Given the description of an element on the screen output the (x, y) to click on. 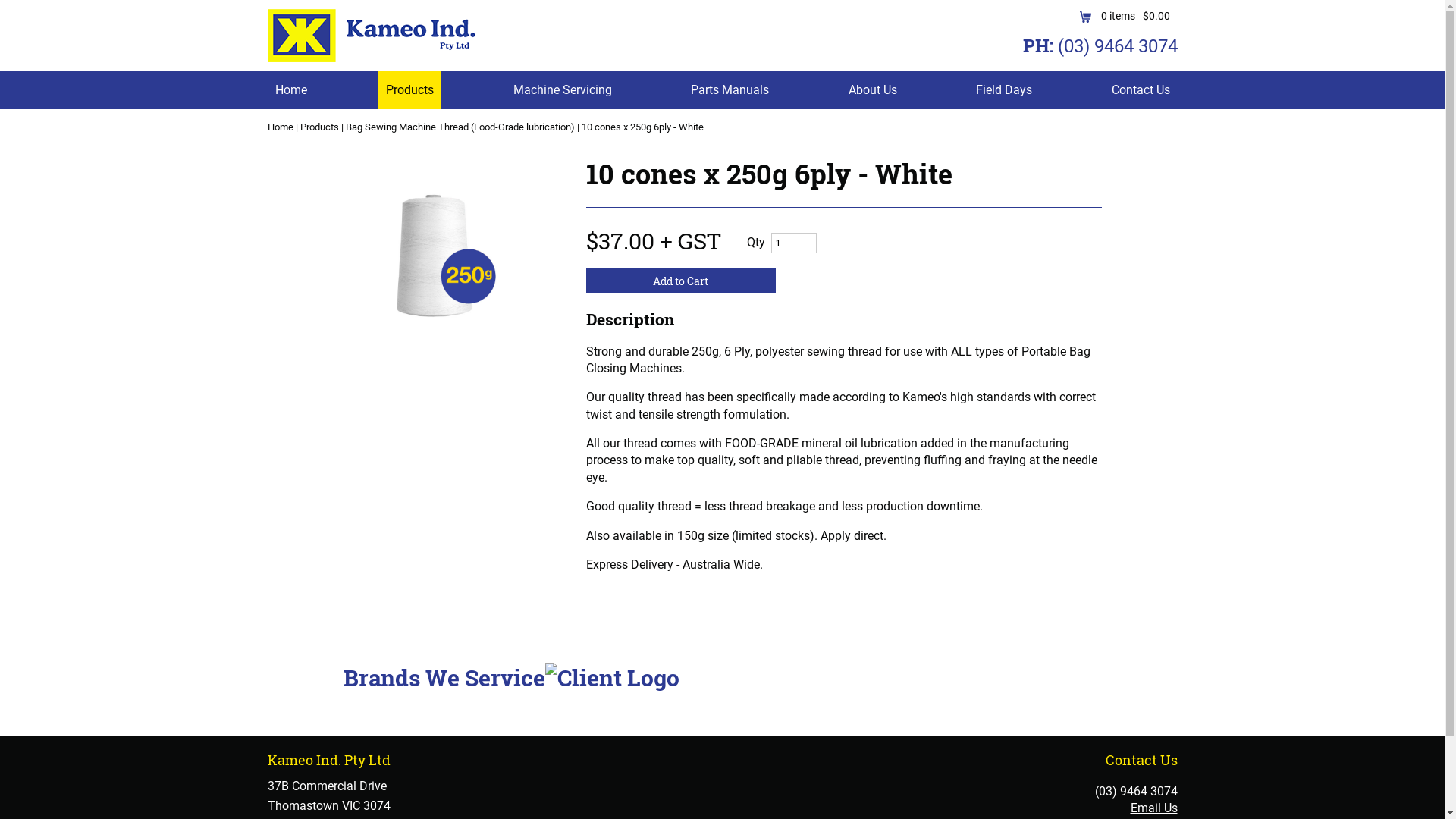
Home Element type: text (279, 126)
Products Element type: text (319, 126)
Home Element type: text (289, 90)
Products Element type: text (409, 90)
(03) 9464 3074 Element type: text (1136, 791)
Parts Manuals Element type: text (729, 90)
Contact Us Element type: text (1140, 90)
Machine Servicing Element type: text (561, 90)
$0.00 Element type: text (1151, 15)
Add to Cart Element type: text (680, 280)
Field Days Element type: text (1003, 90)
About Us Element type: text (871, 90)
10 cones x 250g 6ply - White Element type: text (641, 126)
Email Us Element type: text (1152, 807)
Bag Sewing Machine Thread (Food-Grade lubrication) Element type: text (459, 126)
(03) 9464 3074 Element type: text (1116, 45)
0 items Element type: text (1114, 15)
